Given the description of an element on the screen output the (x, y) to click on. 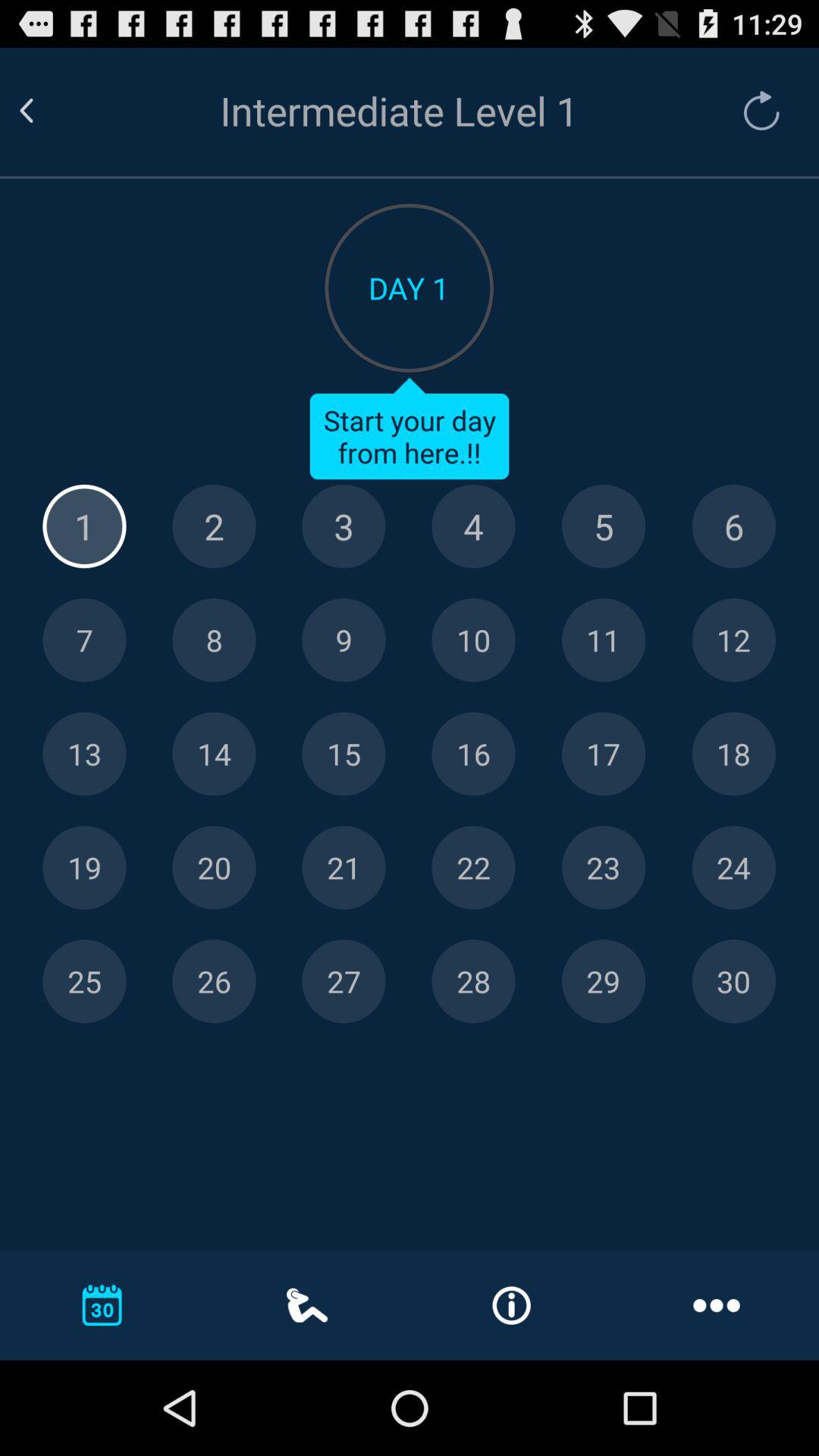
select day (343, 753)
